Given the description of an element on the screen output the (x, y) to click on. 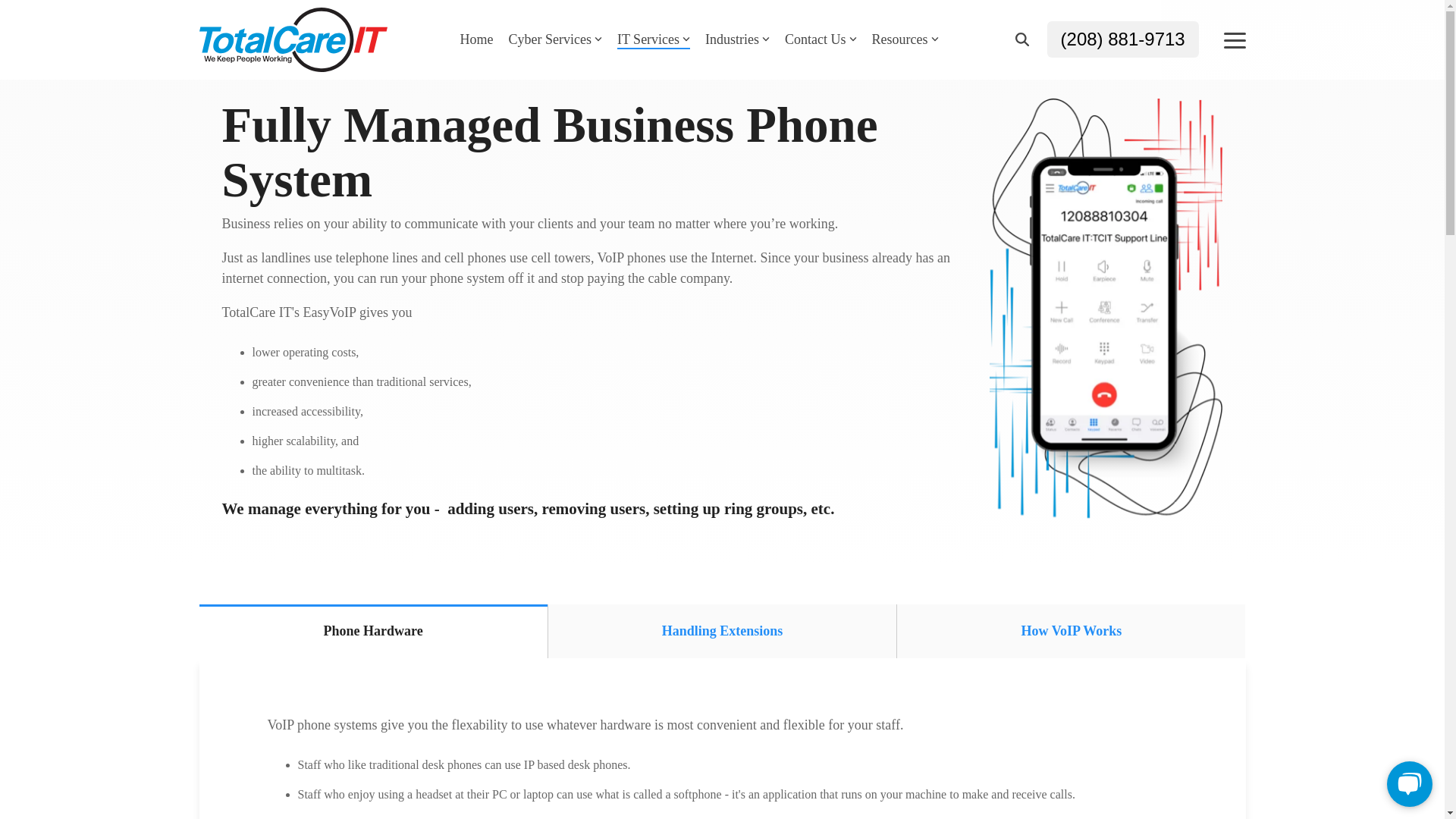
Contact Us (820, 39)
Resources (905, 39)
Industries (737, 39)
Cyber Services (554, 39)
IT Services (653, 39)
Home (476, 39)
Total Care IT (292, 39)
Toggle Menu (1235, 38)
